Given the description of an element on the screen output the (x, y) to click on. 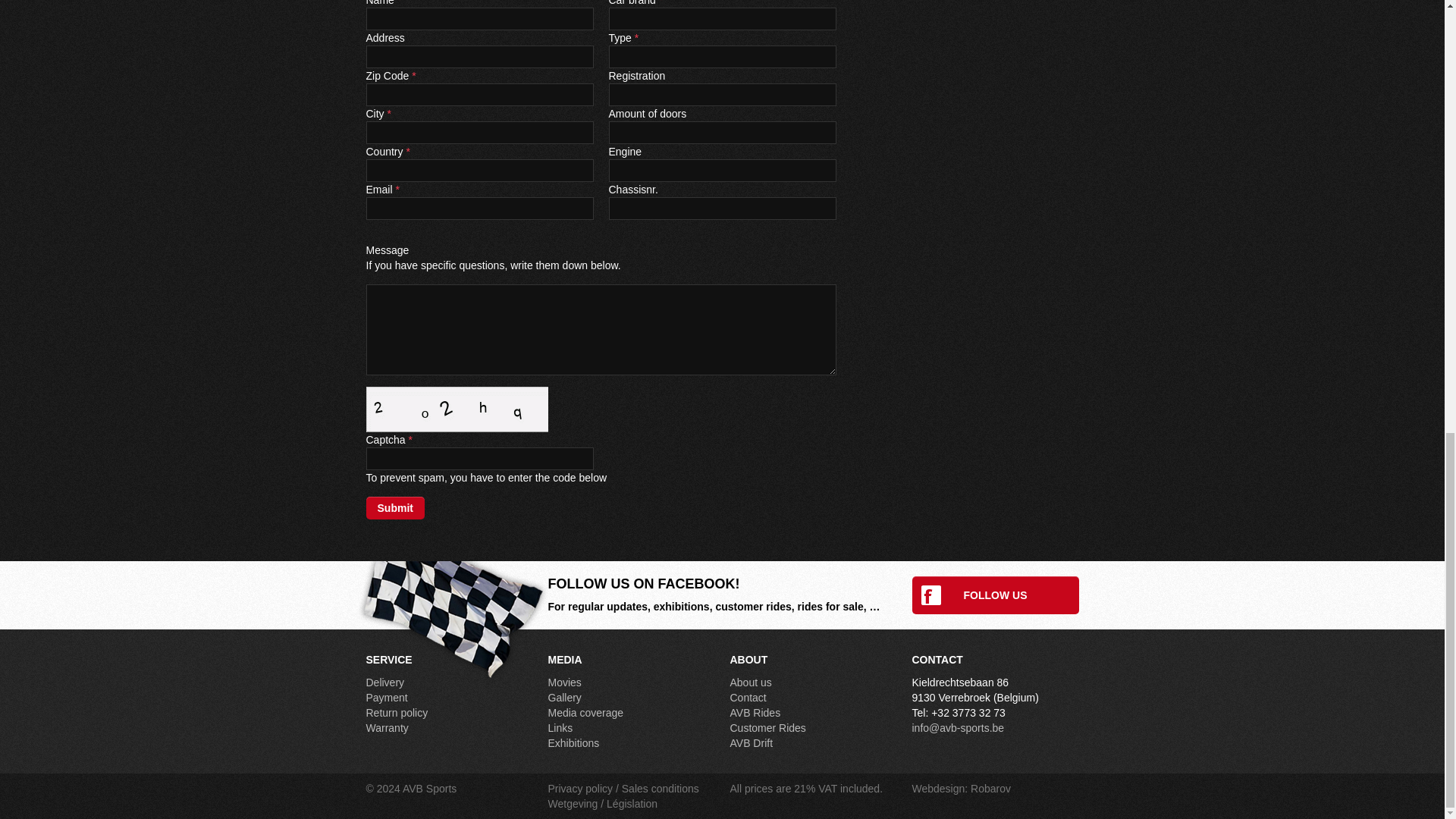
Submit (394, 507)
